Given the description of an element on the screen output the (x, y) to click on. 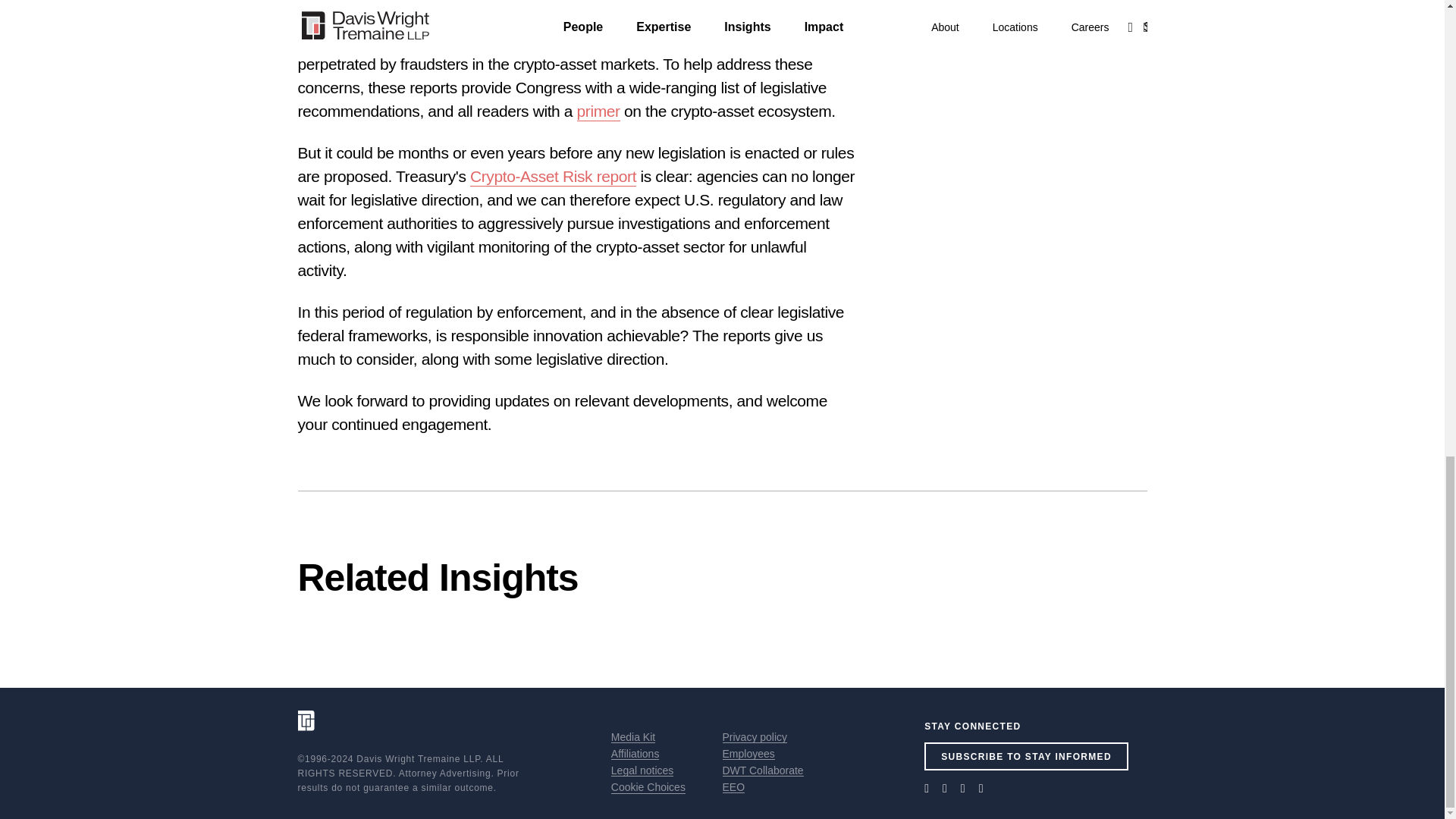
Media Kit (633, 736)
Crypto-Asset Risk report (553, 176)
primer (598, 111)
Legal notices (642, 770)
Affiliations (635, 753)
